Given the description of an element on the screen output the (x, y) to click on. 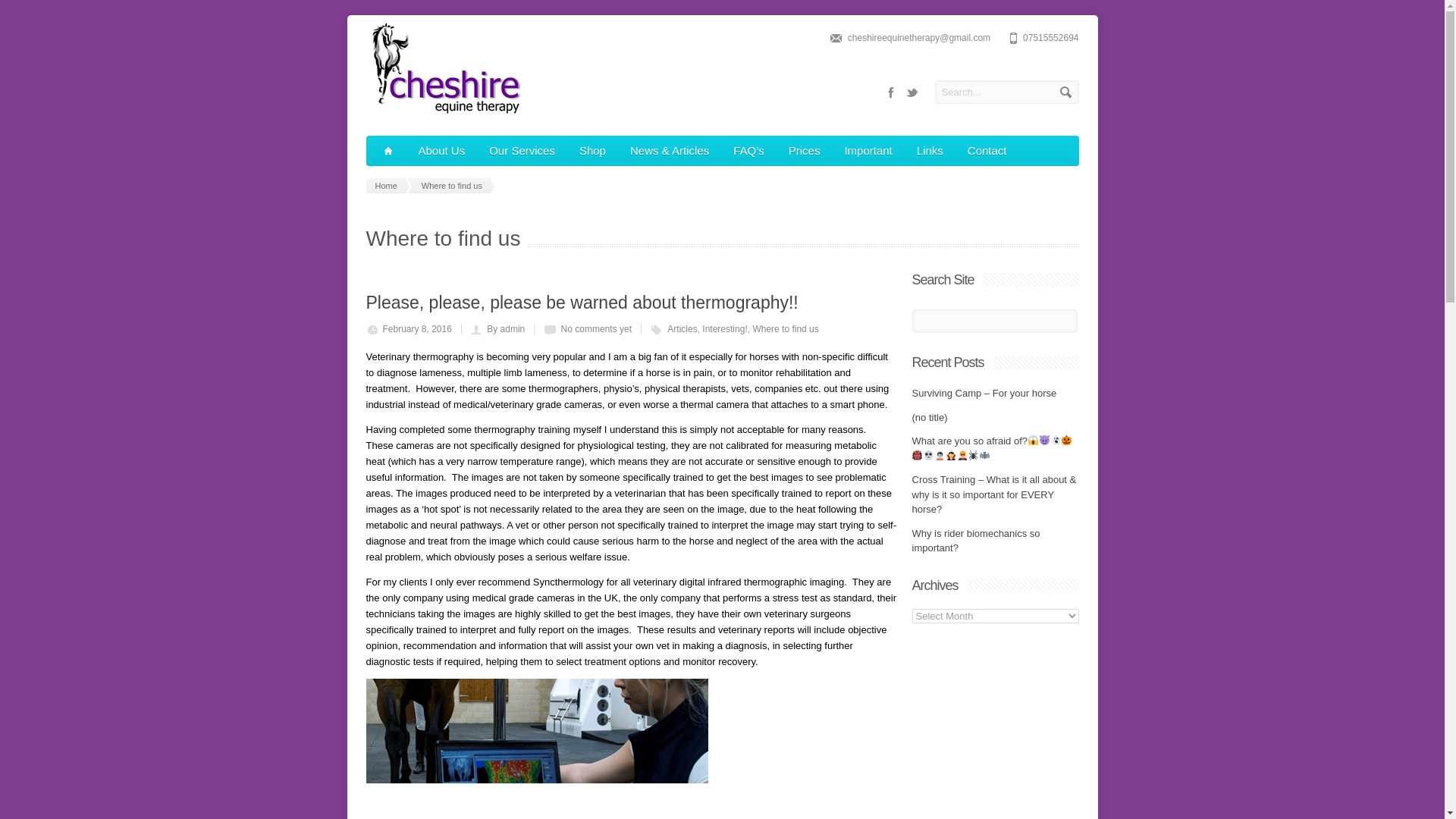
Our Services (522, 150)
Articles (681, 328)
February 8, 2016 (416, 328)
Cheshire Equine Therapy (443, 112)
Twitter (911, 92)
No comments yet (595, 328)
Shop (592, 150)
Search... (1006, 92)
Where to find us (454, 185)
Interesting! (723, 328)
